Given the description of an element on the screen output the (x, y) to click on. 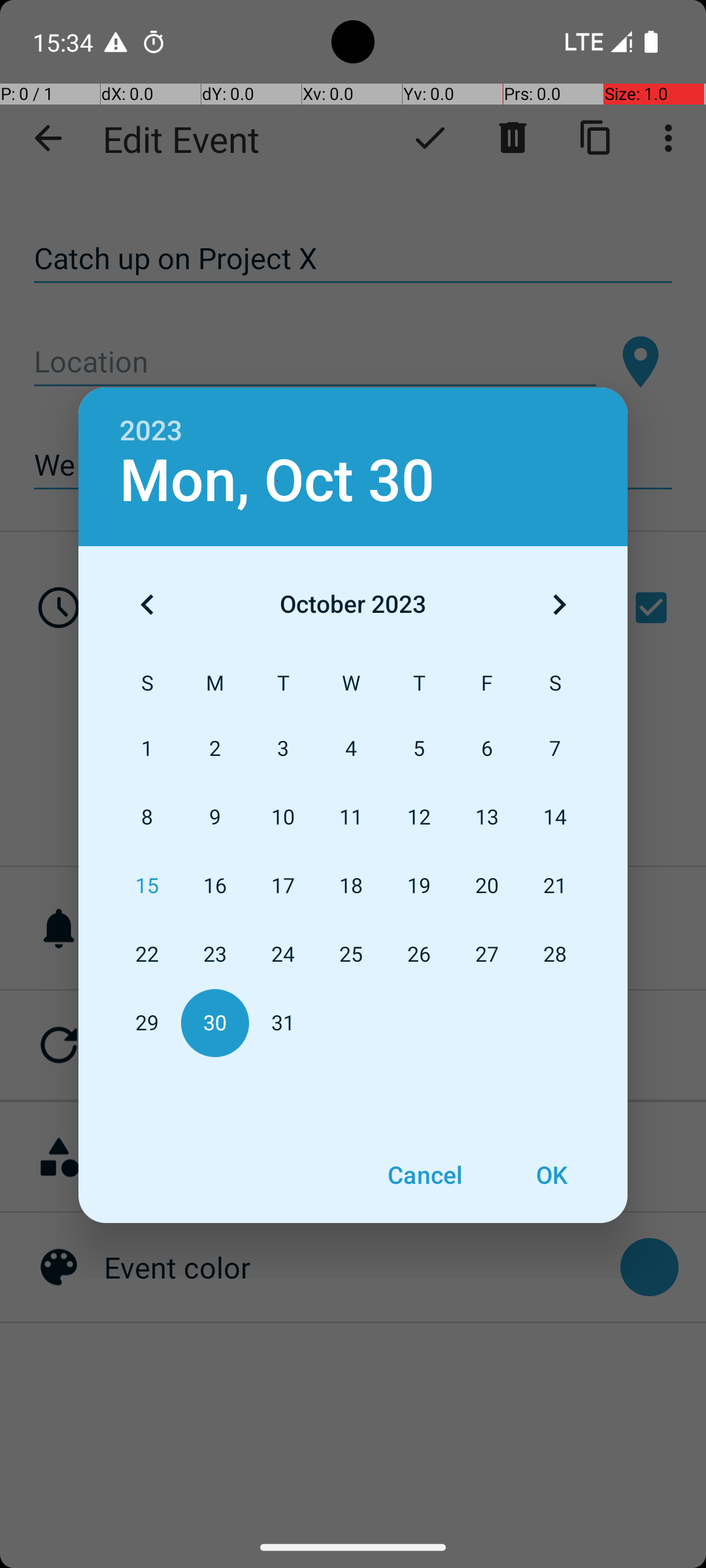
Mon, Oct 30 Element type: android.widget.TextView (276, 480)
